Given the description of an element on the screen output the (x, y) to click on. 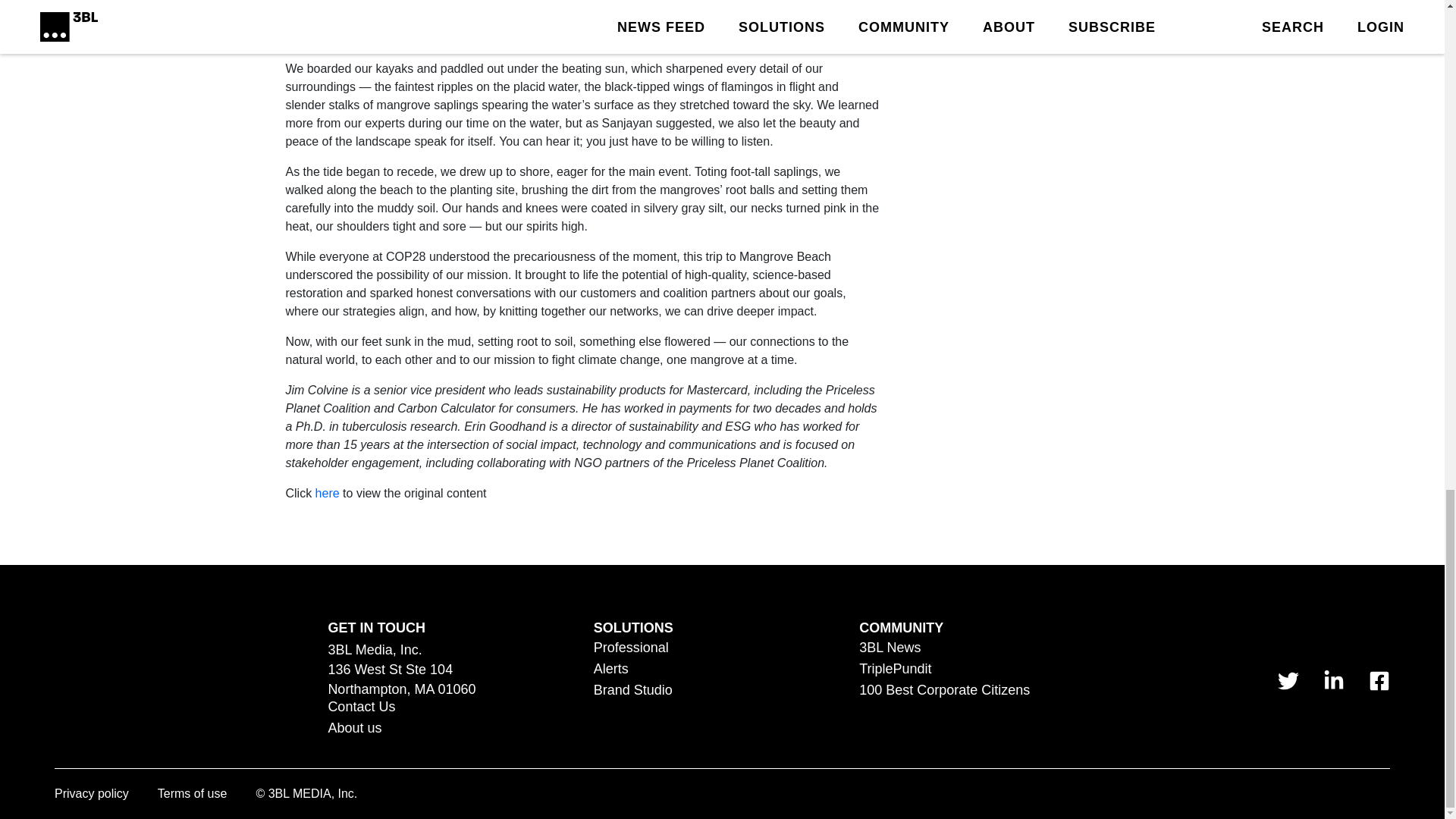
link to 3 B L Media's Facebook (1379, 680)
link to 3 B L Media's Twitter (1288, 680)
link to 3 B L Media's Linkedin (1333, 680)
